Given the description of an element on the screen output the (x, y) to click on. 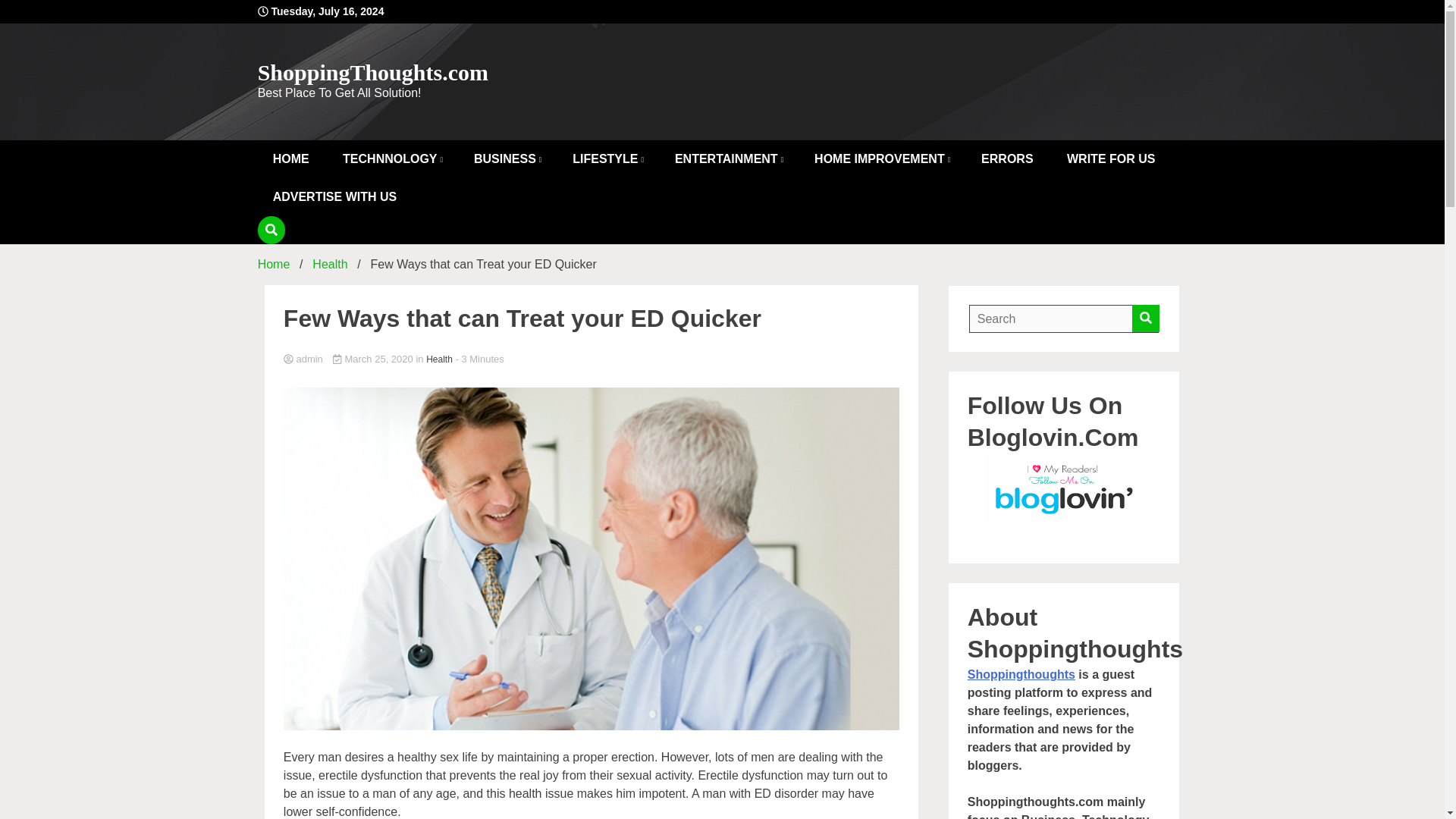
WRITE FOR US (1110, 159)
BUSINESS (506, 159)
ENTERTAINMENT (727, 159)
TECHNNOLOGY (390, 159)
ShoppingThoughts.com (372, 72)
Health (330, 264)
ERRORS (1007, 159)
ADVERTISE WITH US (334, 197)
LIFESTYLE (606, 159)
HOME (290, 159)
Home (273, 264)
admin (591, 359)
March 25, 2020 (373, 358)
Estimated Reading Time of Article (478, 358)
HOME IMPROVEMENT (880, 159)
